Given the description of an element on the screen output the (x, y) to click on. 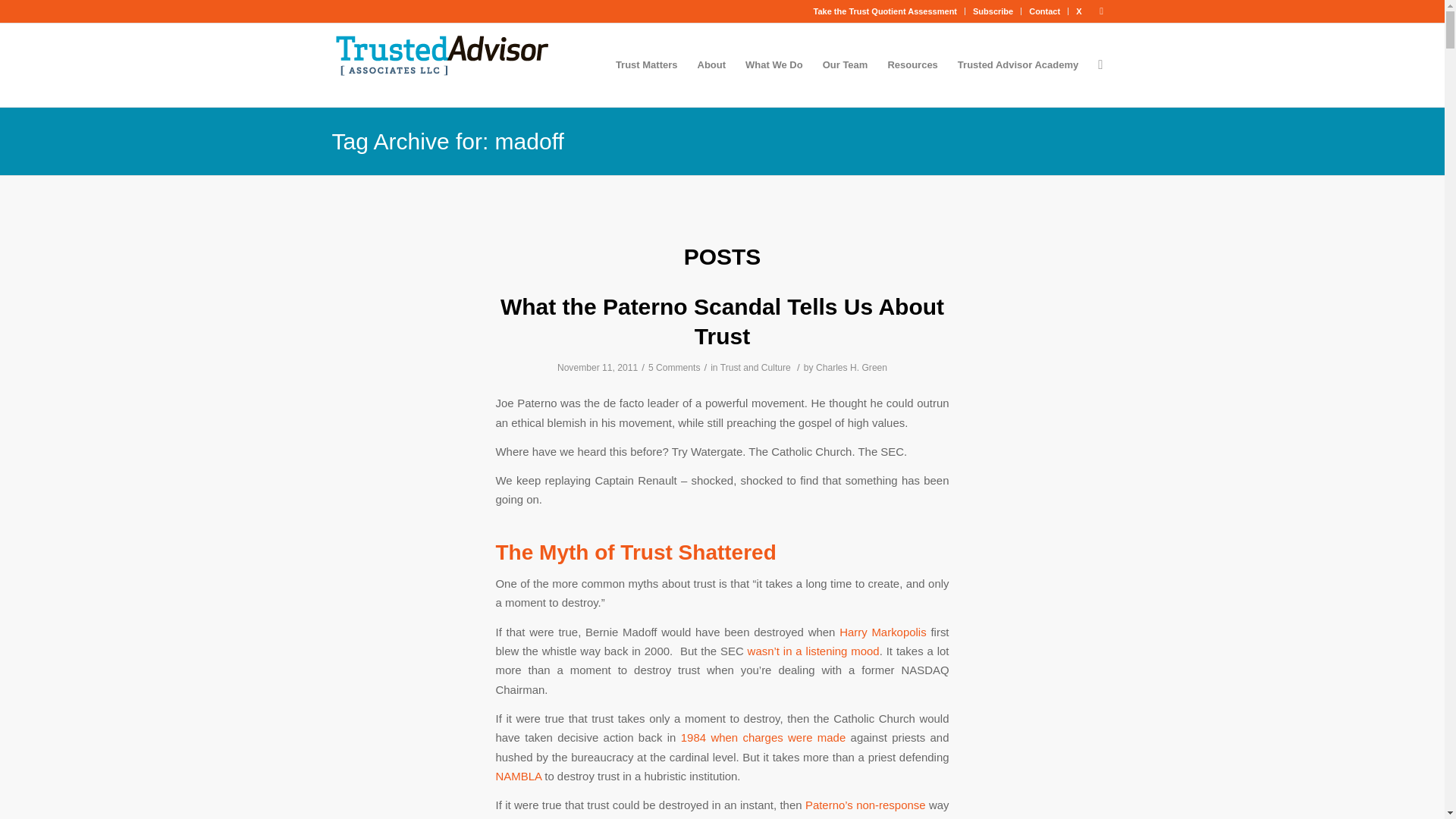
What We Do (773, 65)
Take the Trust Quotient Assessment (885, 11)
Linkedin (1101, 11)
Contact (1044, 11)
Subscribe (992, 11)
Permanent Link: Tag Archive for: madoff (447, 140)
Posts by Charles H. Green (850, 367)
Trust Matters (646, 65)
